Given the description of an element on the screen output the (x, y) to click on. 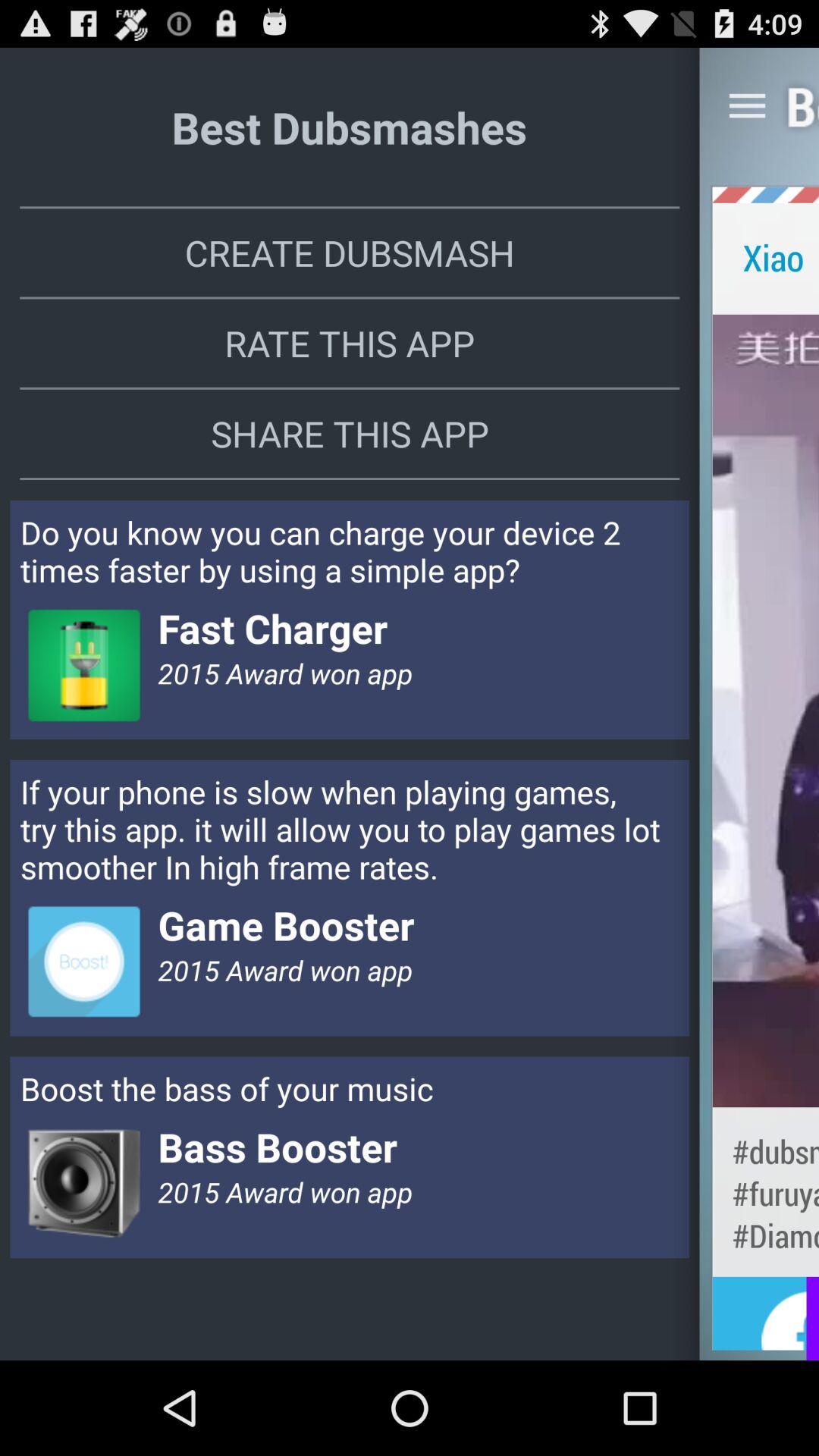
tap icon below dubsmash spongebob spongebobsquarepants icon (765, 1320)
